Given the description of an element on the screen output the (x, y) to click on. 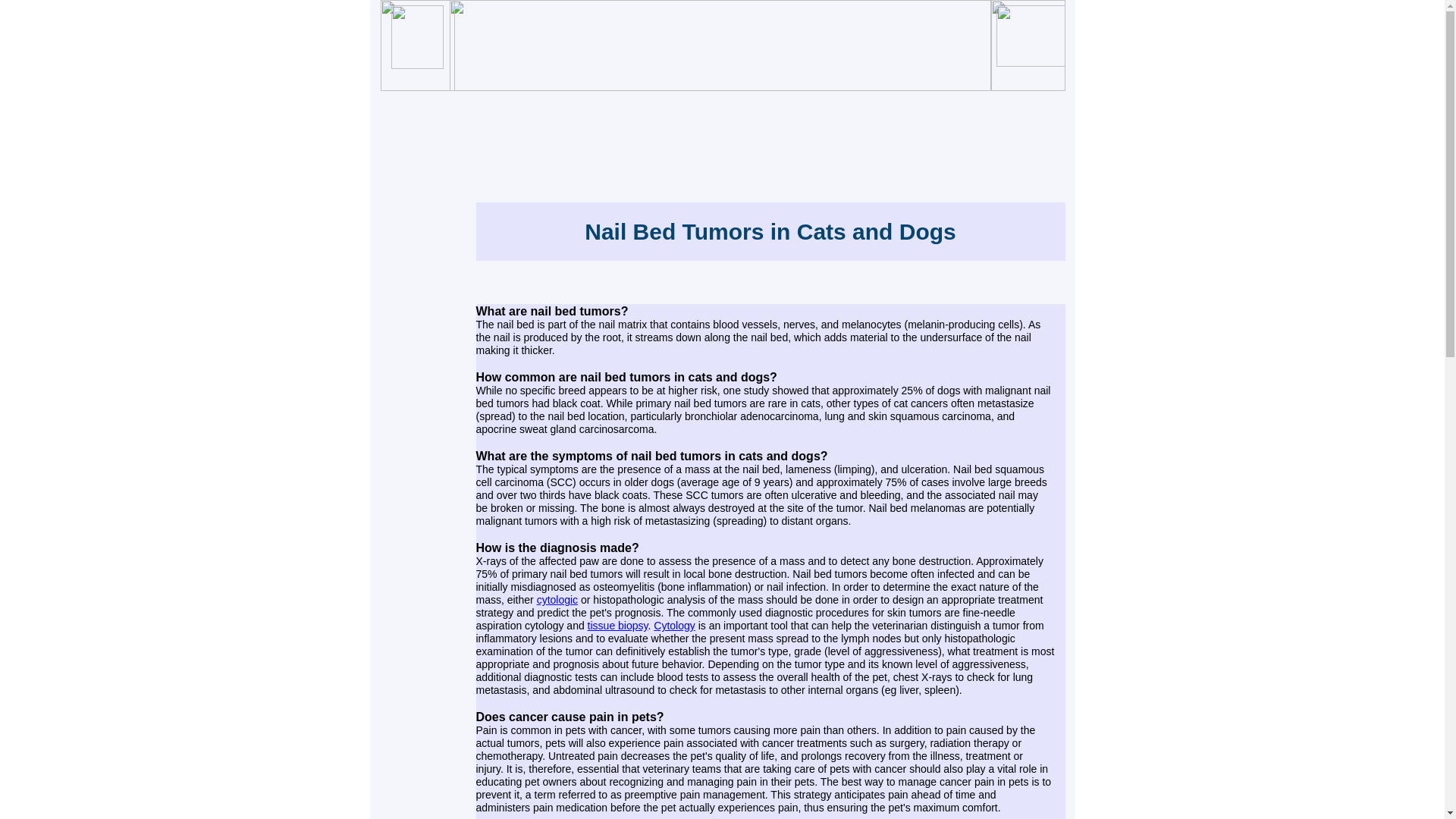
tissue biopsy (617, 625)
cytologic (557, 599)
Cytology (673, 625)
